Given the description of an element on the screen output the (x, y) to click on. 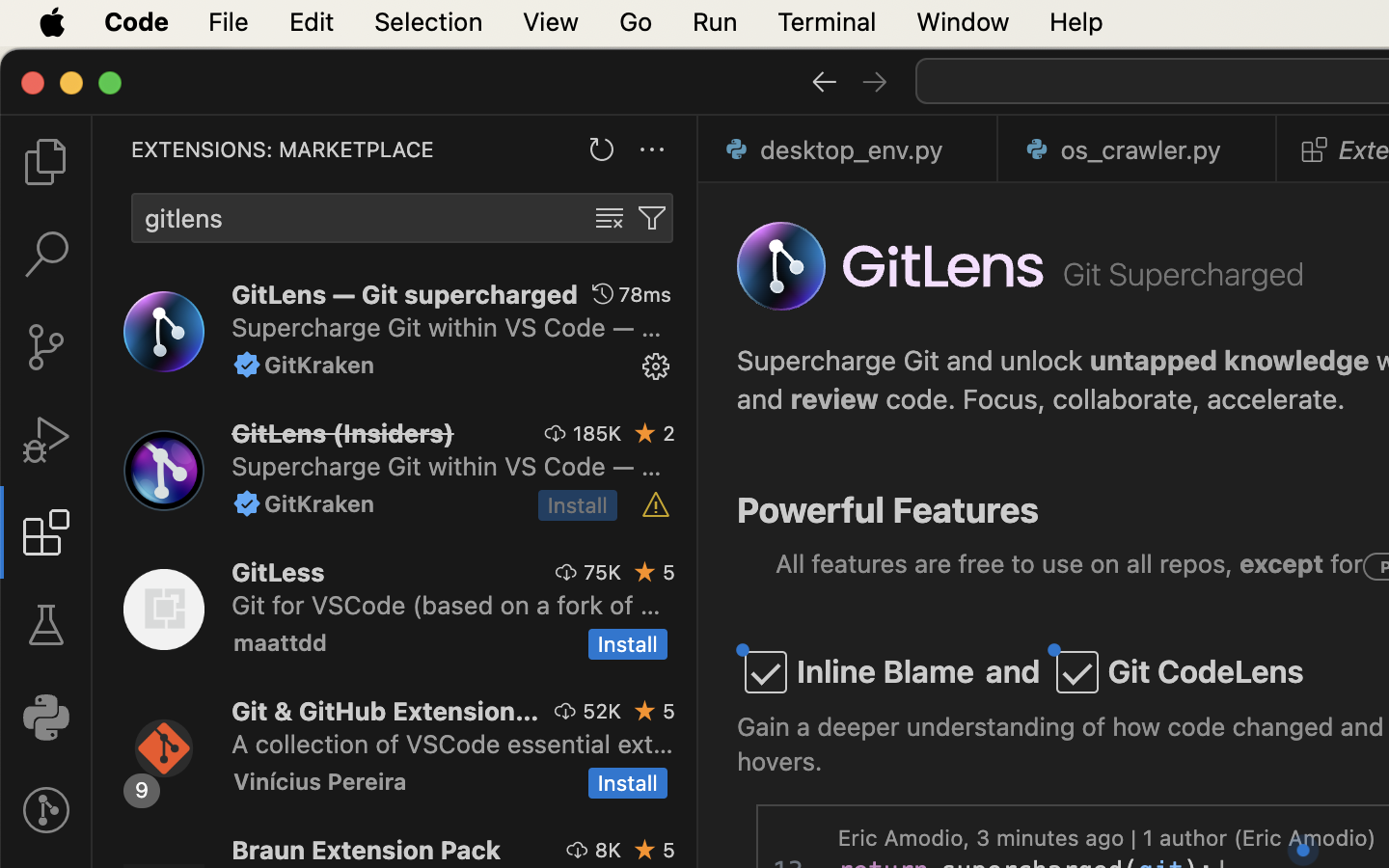
Git for VSCode (based on a fork of Gitlens) Element type: AXStaticText (446, 604)
Git CodeLens Element type: AXStaticText (1205, 671)
 Element type: AXButton (874, 80)
for Element type: AXStaticText (1343, 563)
code. Focus, collaborate, accelerate. Element type: AXStaticText (1111, 398)
